Given the description of an element on the screen output the (x, y) to click on. 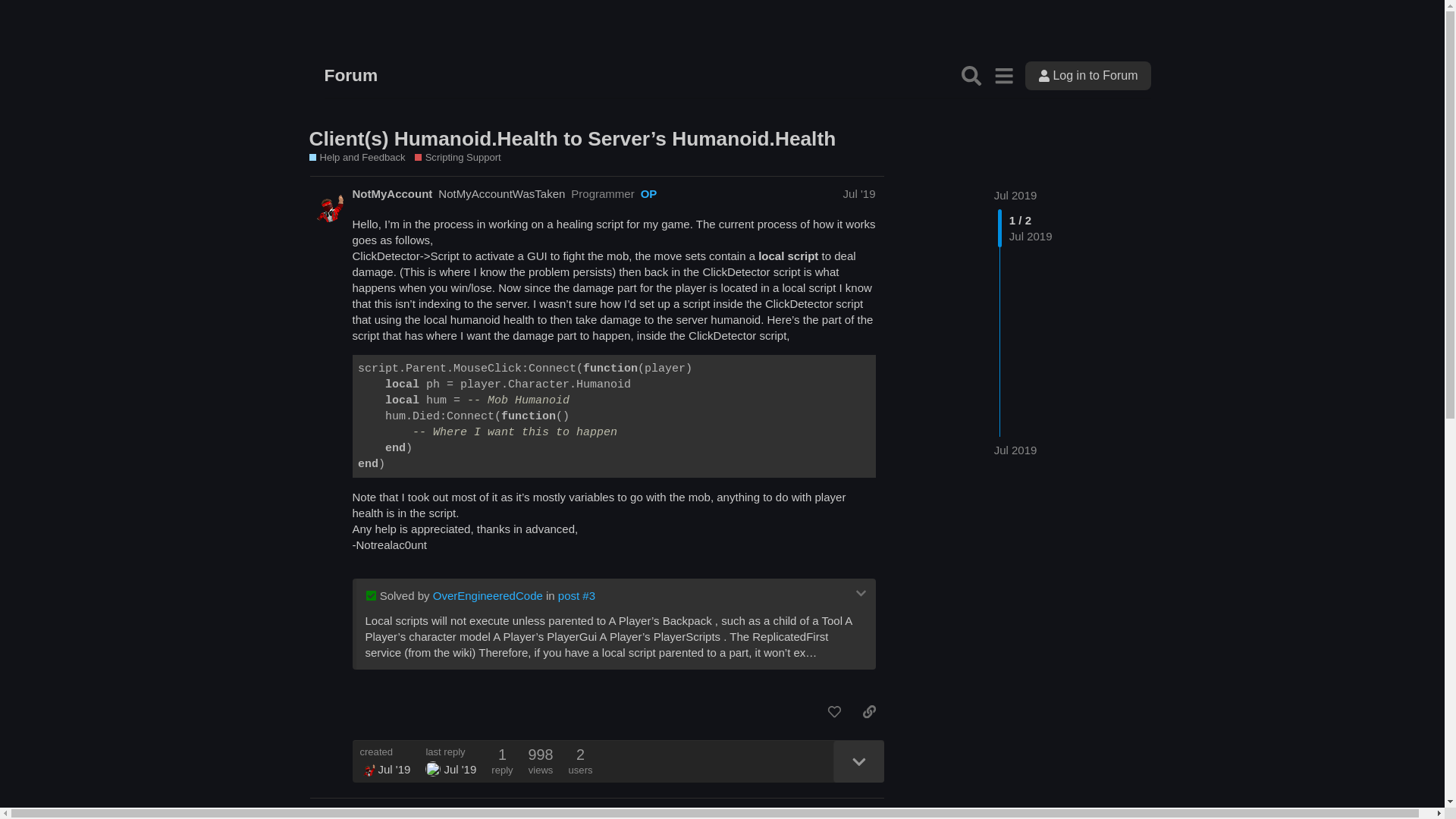
Forum (351, 75)
Jul 2019 (1015, 449)
OverEngineeredCode (487, 594)
OverEngineeredCode (433, 768)
Help and Feedback (357, 157)
NotMyAccount (366, 768)
Jul 2019 (1015, 195)
Jul '19 (859, 814)
NotMyAccountWasTaken (501, 193)
